Given the description of an element on the screen output the (x, y) to click on. 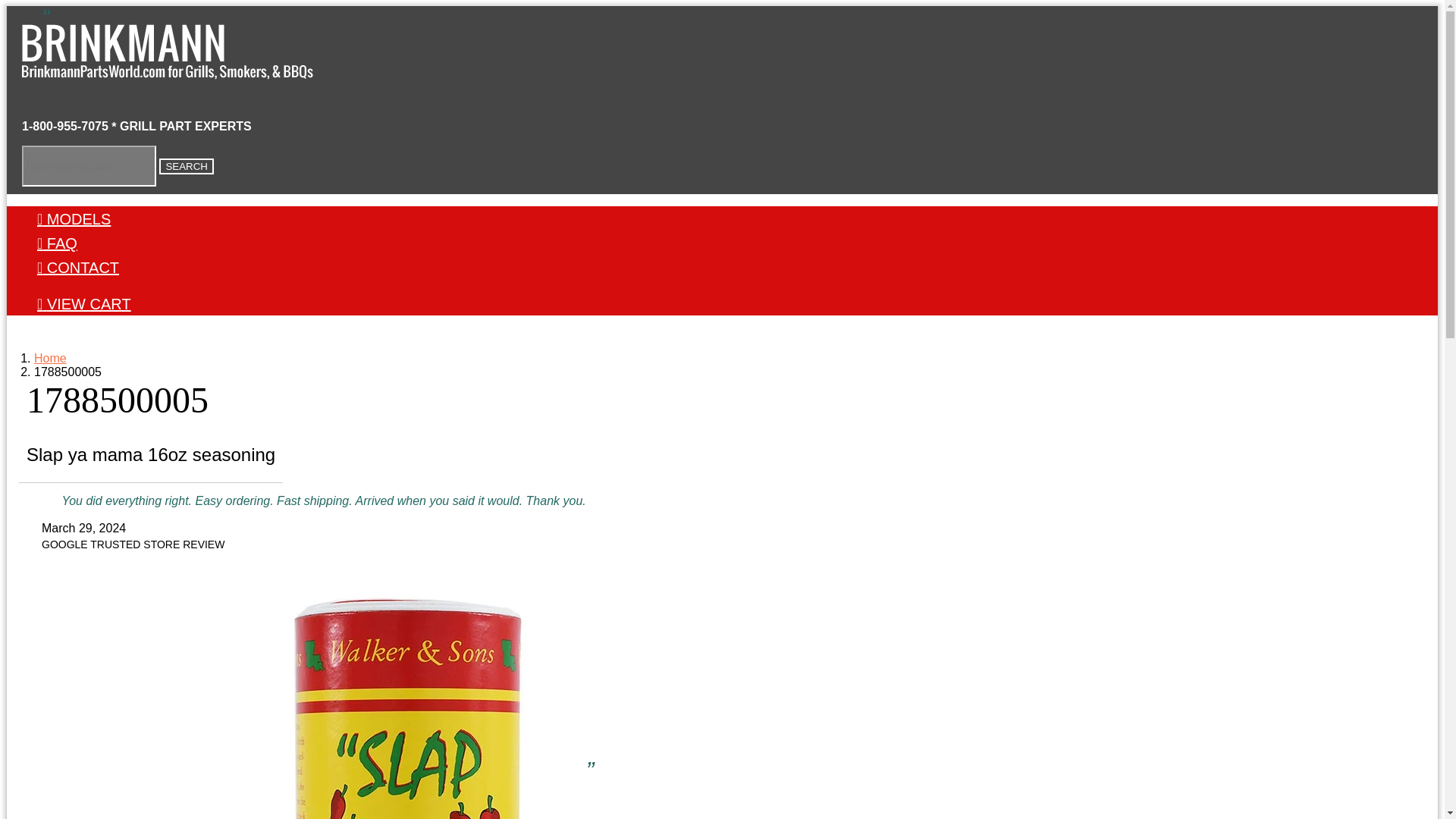
Home (49, 358)
VIEW CART (84, 303)
MODELS (73, 218)
FAQ (57, 243)
CONTACT (78, 267)
SEARCH (186, 166)
